Given the description of an element on the screen output the (x, y) to click on. 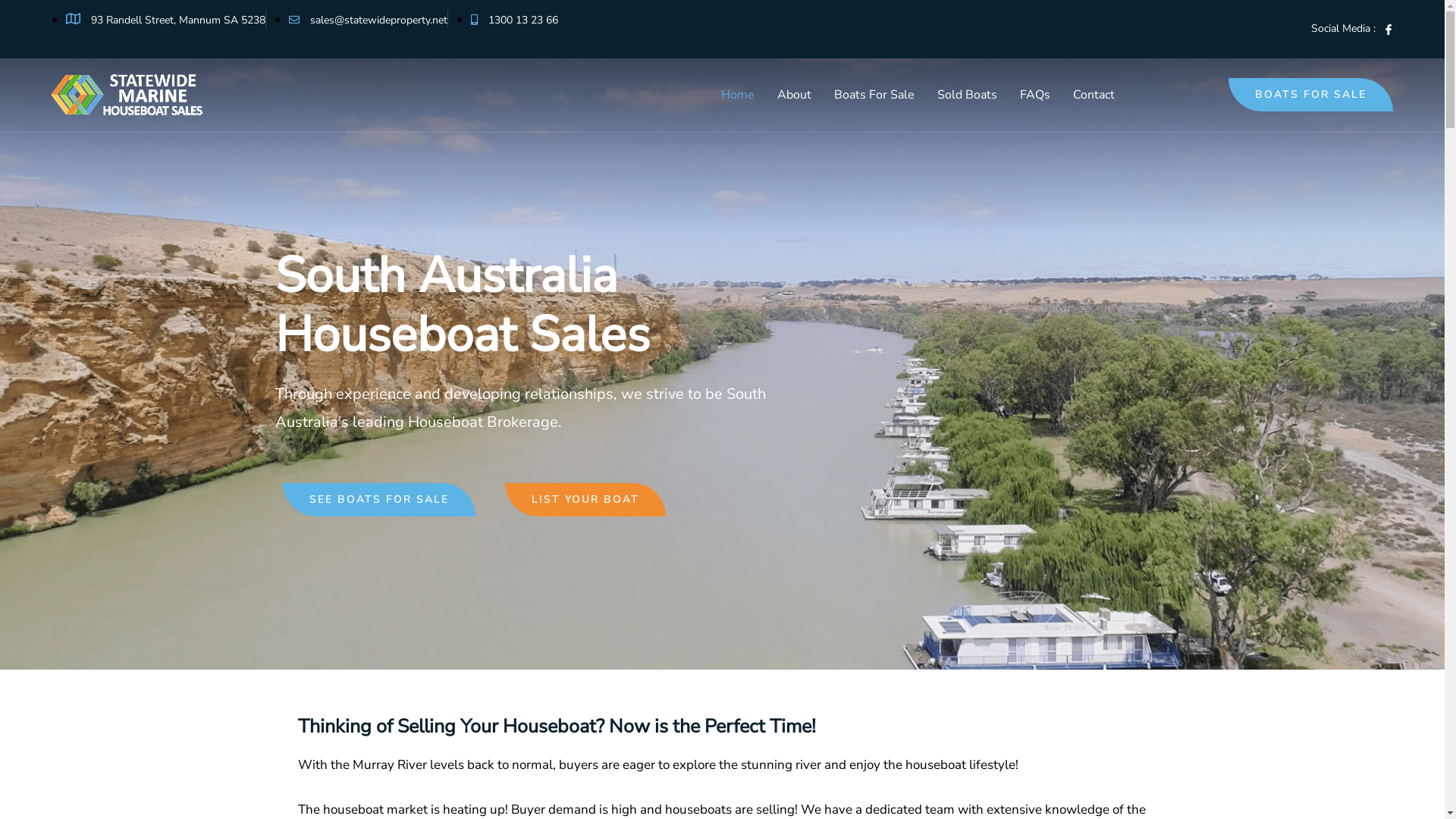
BOATS FOR SALE Element type: text (1310, 94)
Sold Boats Element type: text (966, 94)
Contact Element type: text (1093, 94)
About Element type: text (793, 94)
LIST YOUR BOAT Element type: text (585, 499)
1300 13 23 66 Element type: text (514, 19)
Home Element type: text (737, 94)
sales@statewideproperty.net Element type: text (367, 19)
FAQs Element type: text (1034, 94)
SEE BOATS FOR SALE Element type: text (378, 499)
Boats For Sale Element type: text (873, 94)
